Given the description of an element on the screen output the (x, y) to click on. 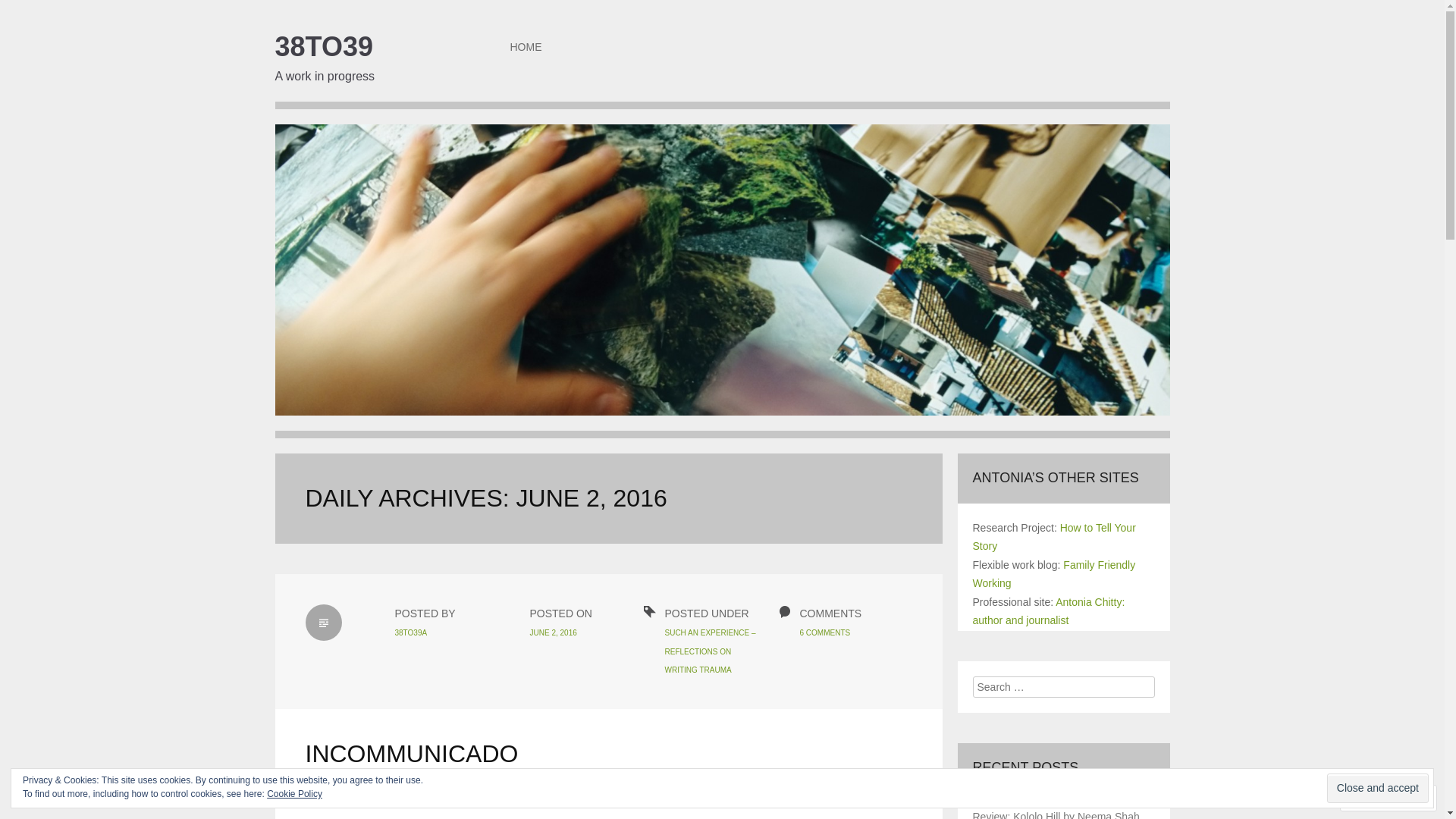
Antonia Chitty: author and journalist Element type: text (1048, 611)
Follow Element type: text (1374, 797)
38TO39 Element type: text (323, 46)
38to39 Element type: hover (721, 281)
HOME Element type: text (525, 47)
JUNE 2, 2016 Element type: text (552, 632)
Close and accept Element type: text (1377, 788)
How to Tell Your Story Element type: text (1053, 536)
38TO39A Element type: text (410, 632)
Cookie Policy Element type: text (294, 793)
6 COMMENTS Element type: text (824, 632)
Search Element type: text (30, 10)
INCOMMUNICADO Element type: text (410, 753)
Family Friendly Working Element type: text (1053, 573)
